Given the description of an element on the screen output the (x, y) to click on. 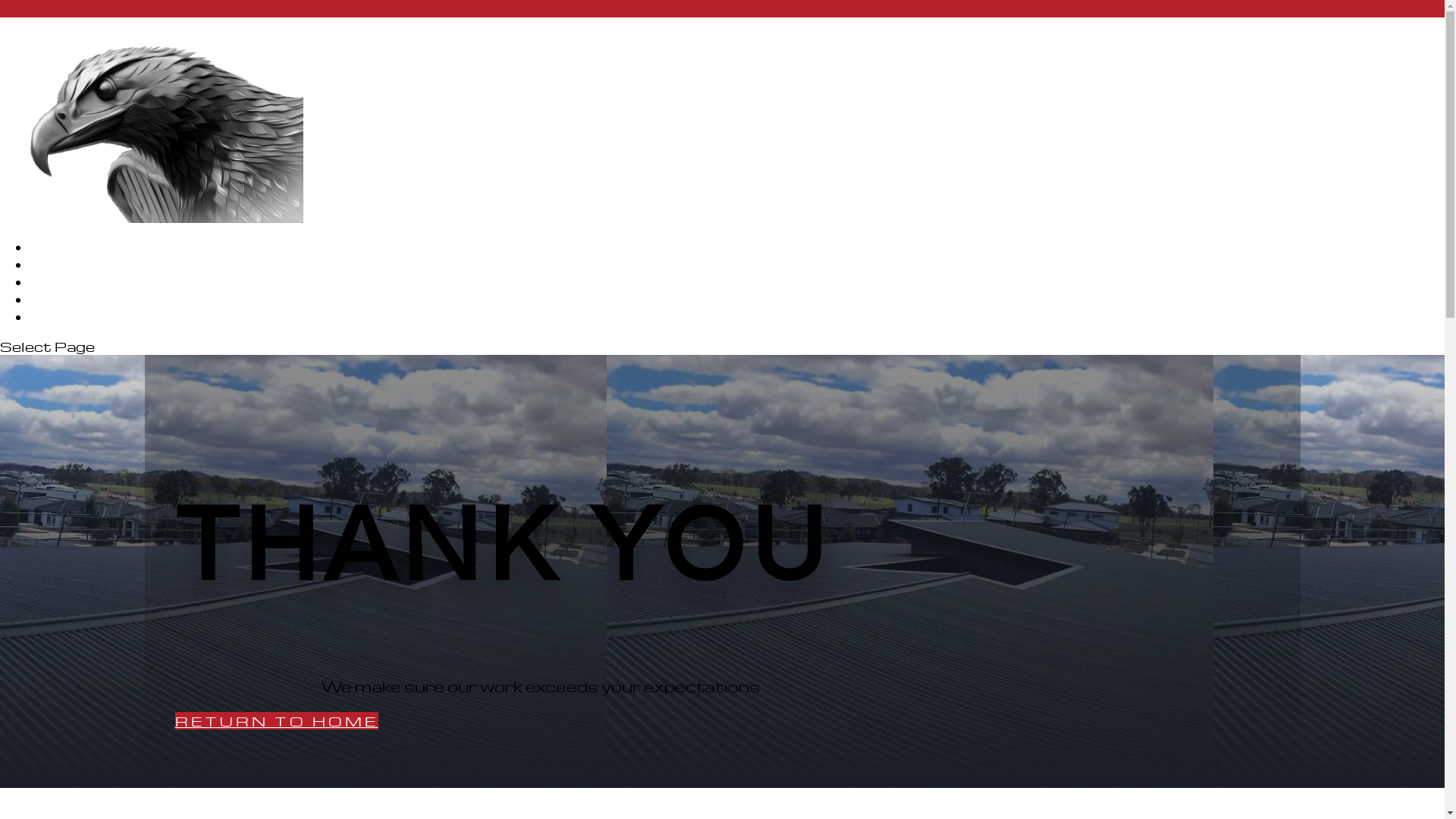
About Element type: text (55, 264)
Contact Element type: text (63, 316)
Projects Element type: text (65, 298)
Services Element type: text (65, 281)
Call Us 0412 721 594 Element type: text (86, 8)
Home Element type: text (53, 246)
eagleroofingservices@outlook.com Element type: text (314, 8)
RETURN TO HOME Element type: text (275, 720)
